Given the description of an element on the screen output the (x, y) to click on. 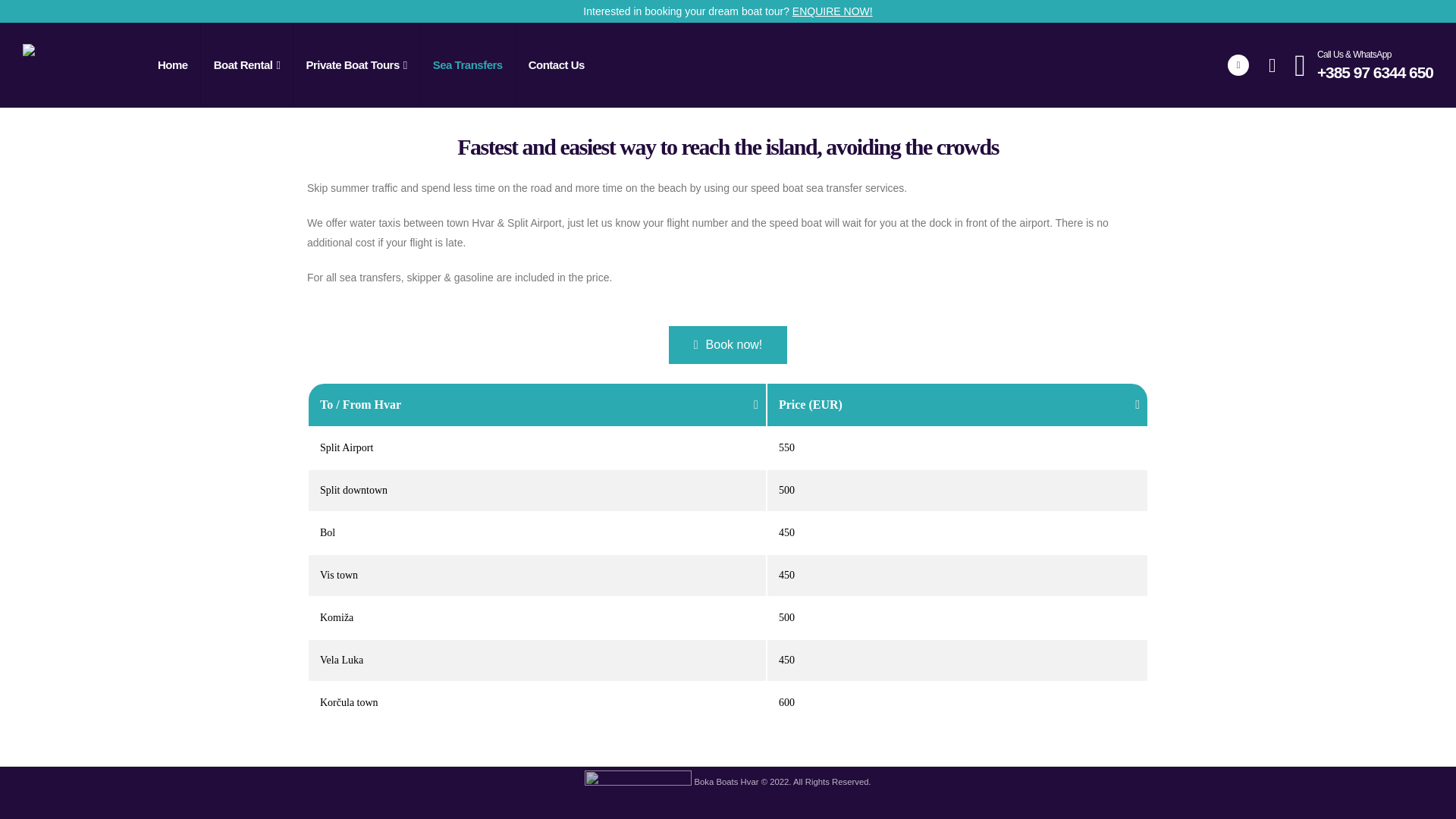
Boka Boats Hvar Logo White (374, 558)
Instagram (823, 593)
Sea Transfers (467, 64)
ENQUIRE NOW! (832, 10)
Private Boat Tours (357, 64)
Contact Us (556, 64)
Boat Rental (248, 64)
Instagram (823, 593)
Book now! (727, 344)
Privacy Policy (984, 609)
